Given the description of an element on the screen output the (x, y) to click on. 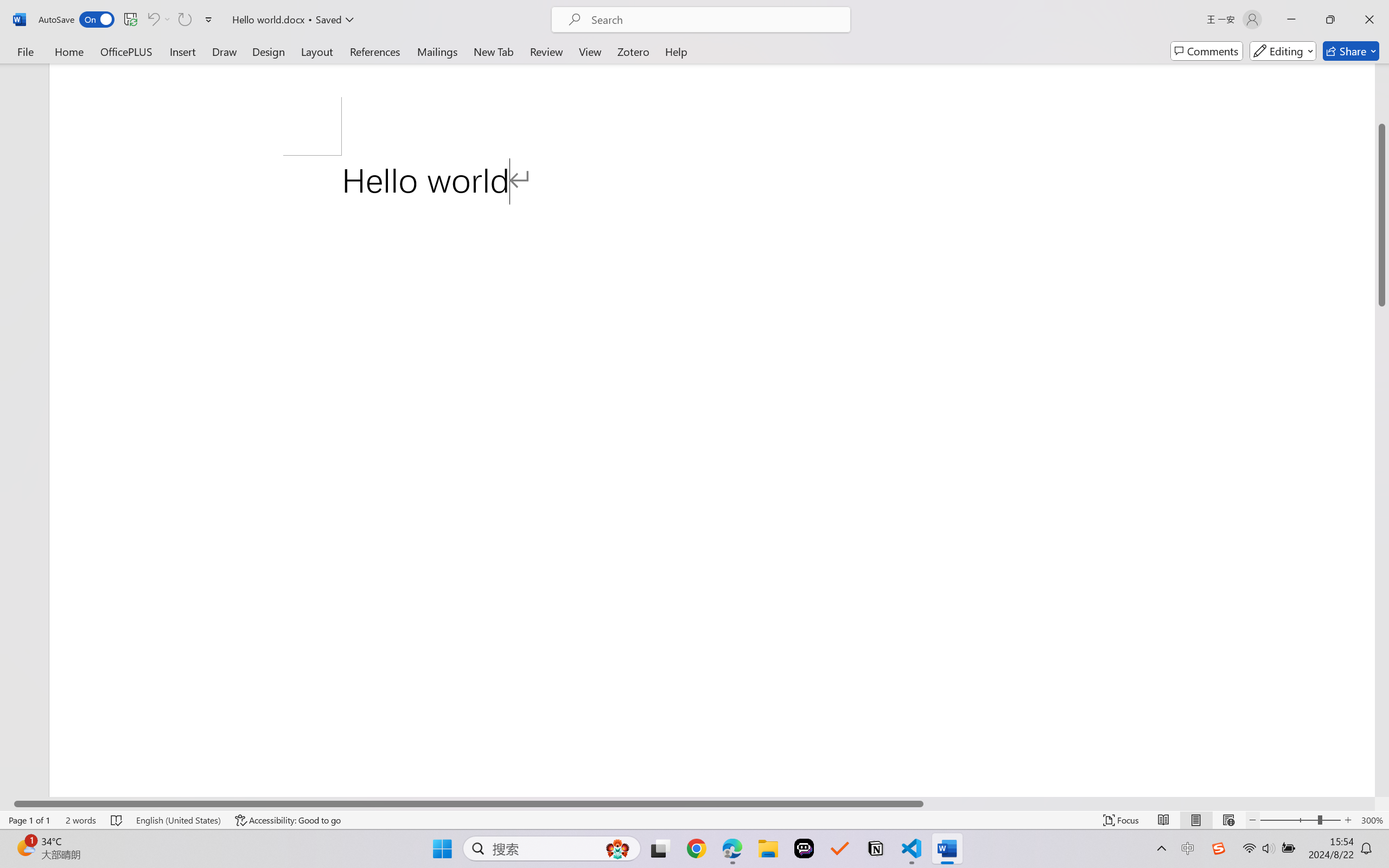
Draw (224, 51)
Zoom 300% (1372, 819)
AutomationID: DynamicSearchBoxGleamImage (617, 848)
Insert (182, 51)
References (375, 51)
Web Layout (1228, 819)
Class: NetUIScrollBar (687, 803)
Save (130, 19)
Can't Repeat (184, 19)
Zoom (1300, 819)
AutomationID: BadgeAnchorLargeTicker (24, 847)
Print Layout (1196, 819)
Zotero (632, 51)
